Given the description of an element on the screen output the (x, y) to click on. 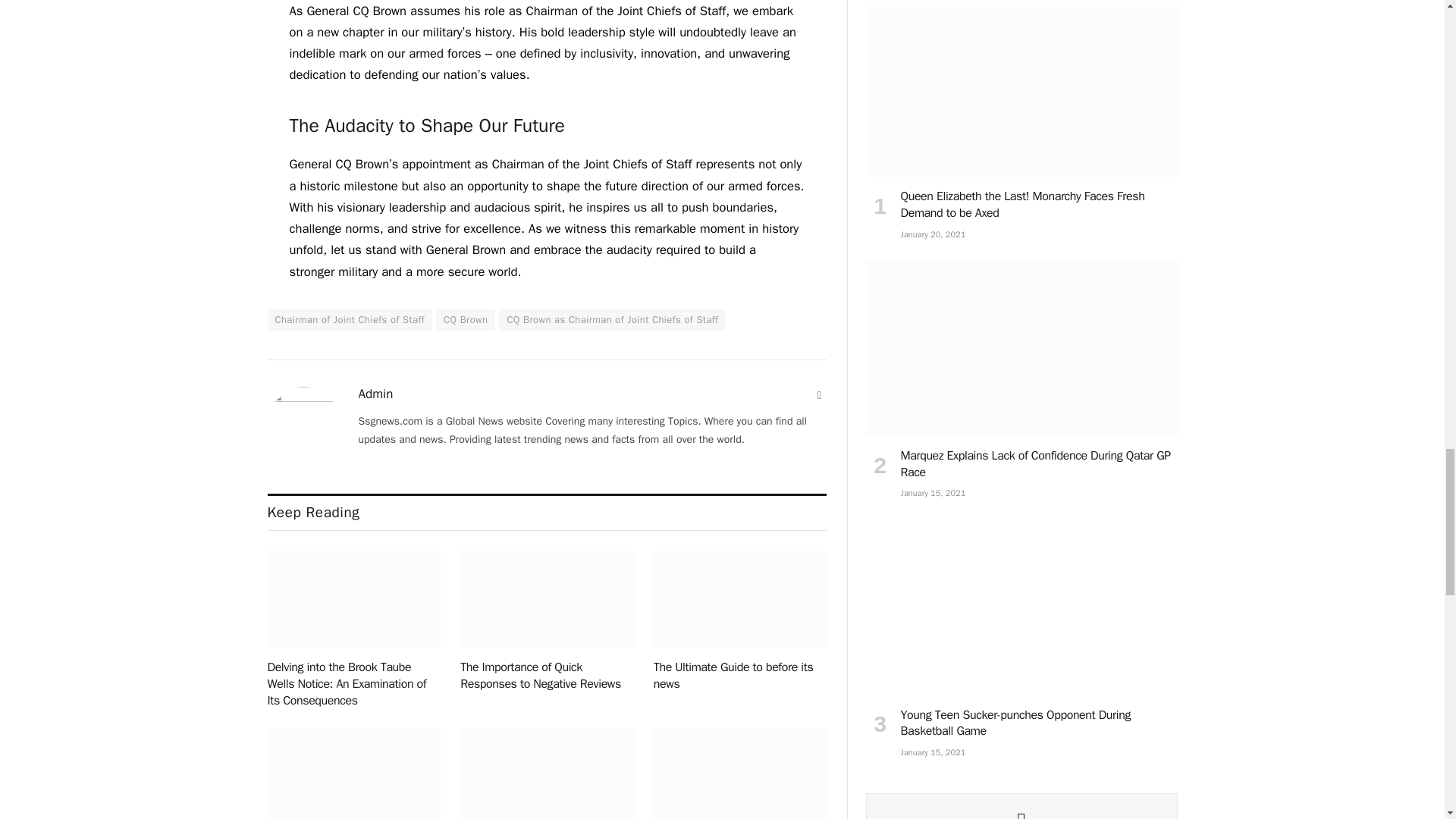
Website (818, 395)
Posts by Admin (375, 394)
